Given the description of an element on the screen output the (x, y) to click on. 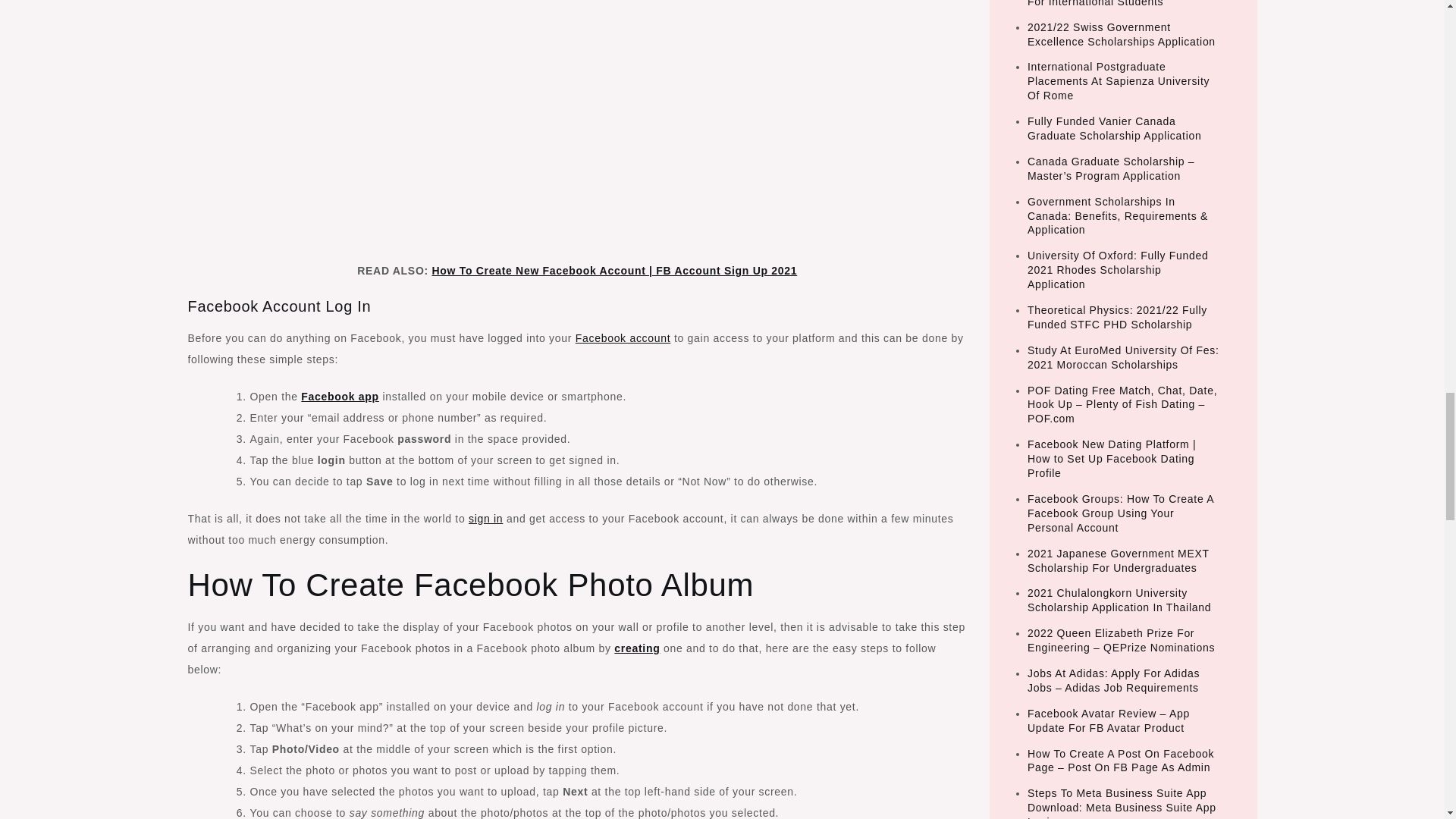
creating (636, 648)
sign in (485, 518)
Facebook app (339, 396)
Facebook account (623, 337)
